Given the description of an element on the screen output the (x, y) to click on. 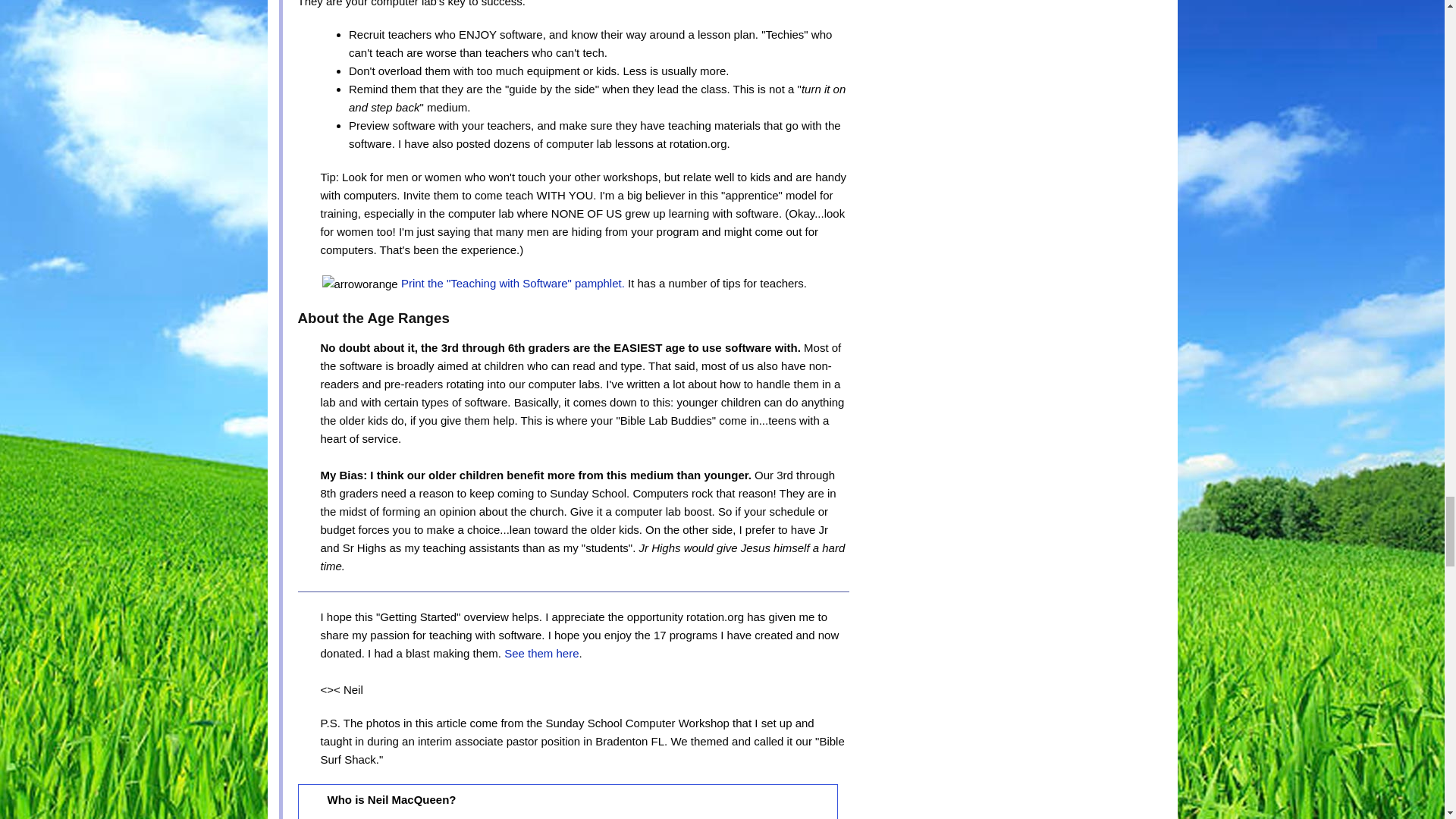
arroworange (359, 284)
